Given the description of an element on the screen output the (x, y) to click on. 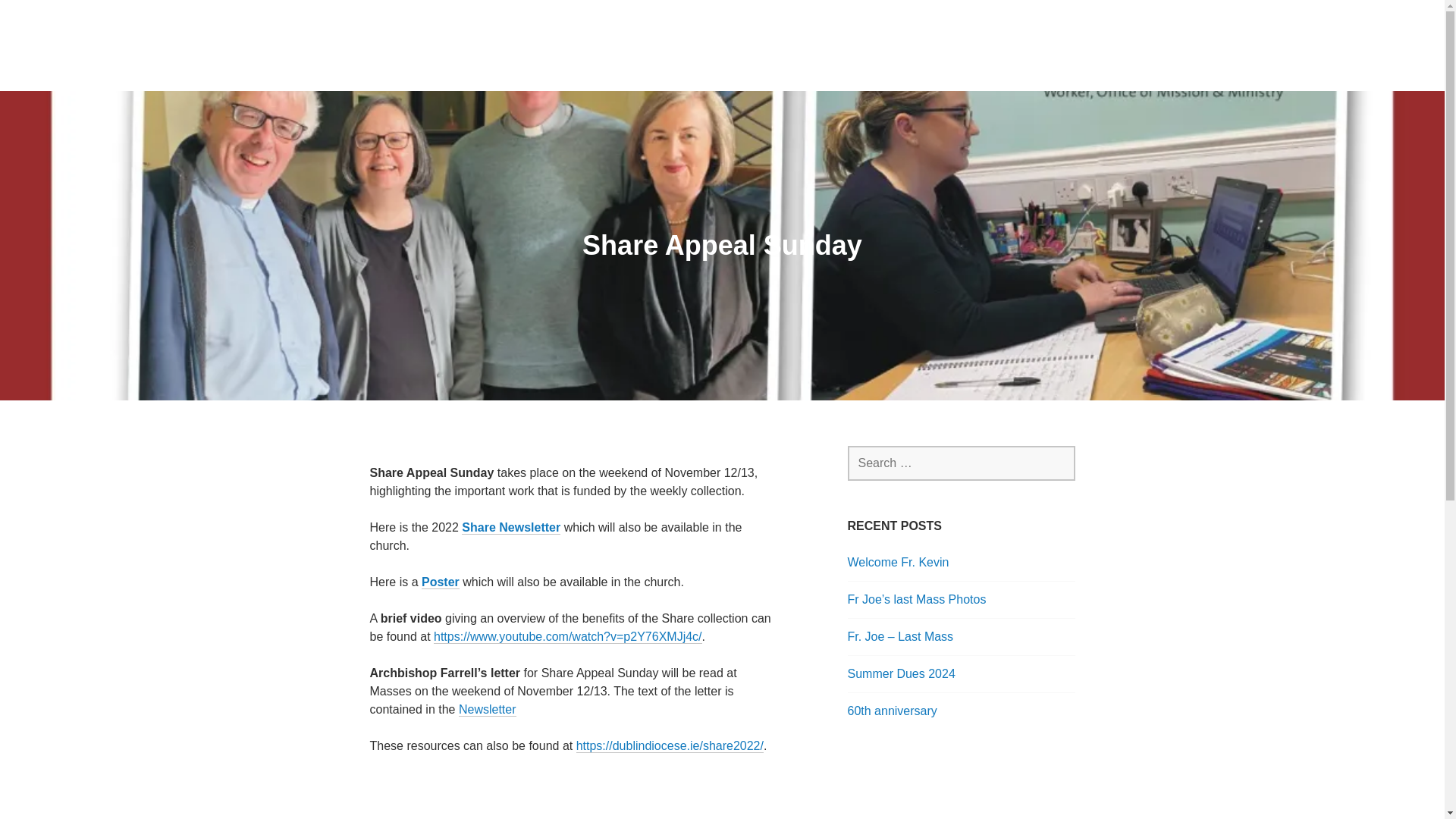
Welcome Fr. Kevin (898, 562)
60th anniversary (892, 710)
Poster (441, 581)
Share Newsletter (510, 527)
OUR MOTHER OF DIVINE GRACE (587, 94)
Summer Dues 2024 (901, 673)
Newsletter (487, 709)
Search (45, 17)
